Given the description of an element on the screen output the (x, y) to click on. 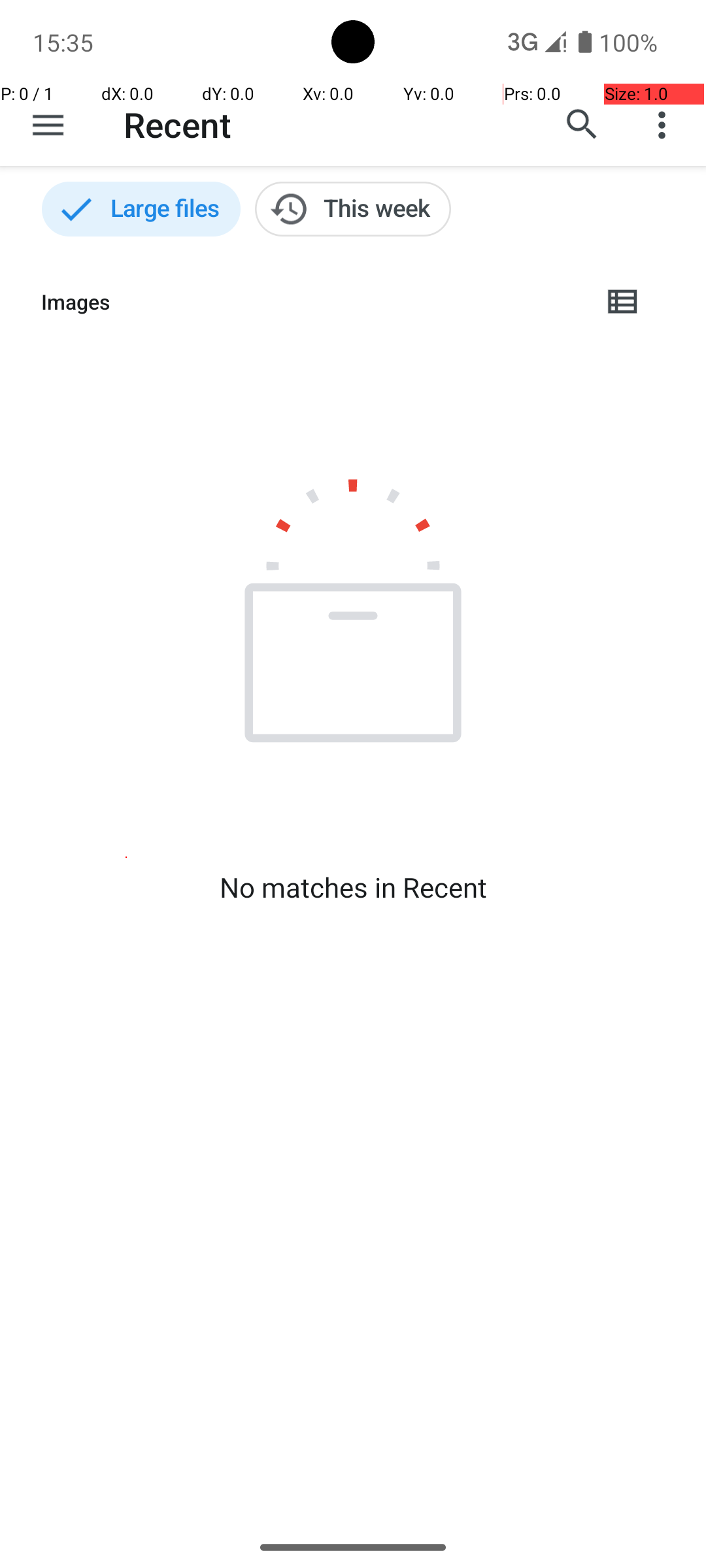
No matches in Recent Element type: android.widget.TextView (352, 886)
